Given the description of an element on the screen output the (x, y) to click on. 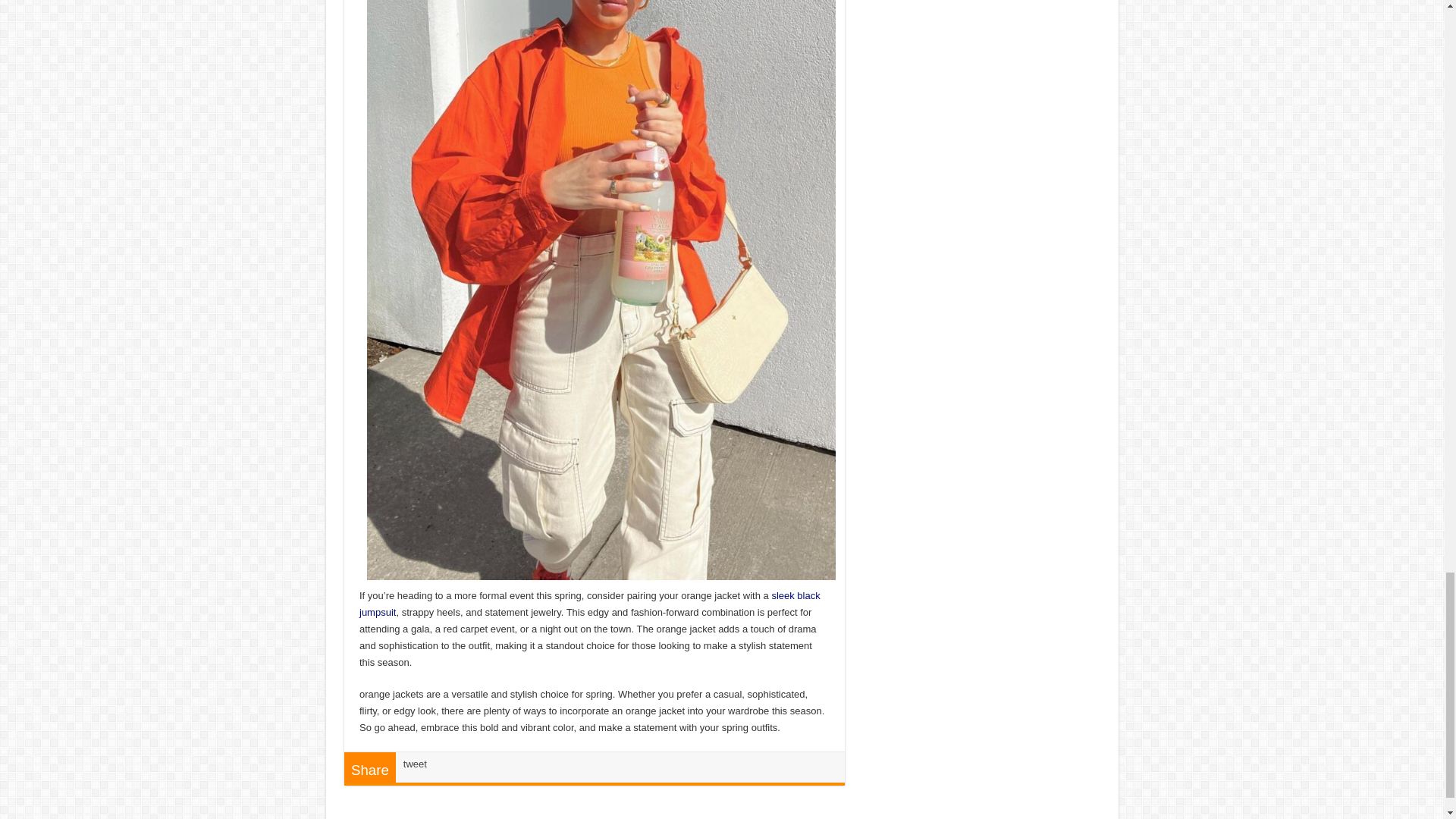
Bright and Stylish: Orange Jacket Outfits Perfect for Spring (600, 285)
tweet (414, 763)
Innovative Ink-Dyed Clutches for a Stylish and Casual Look (590, 603)
sleek black jumpsuit (590, 603)
